Given the description of an element on the screen output the (x, y) to click on. 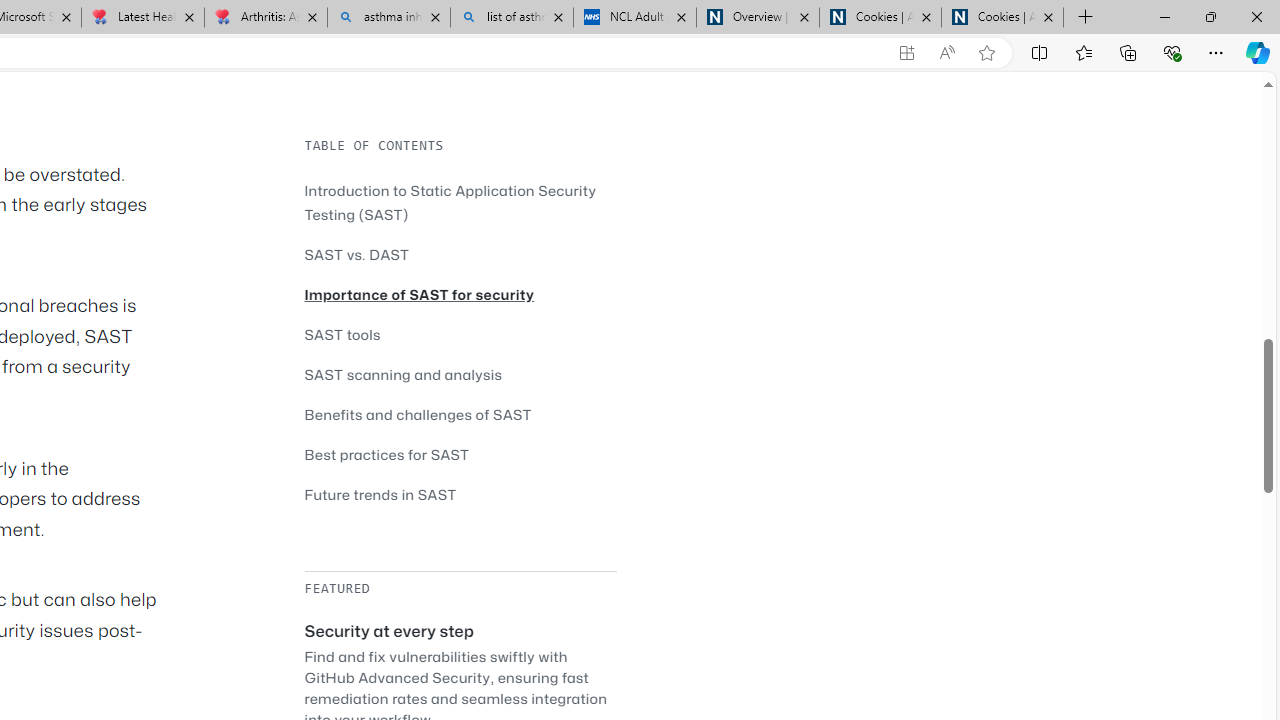
Best practices for SAST (386, 453)
Importance of SAST for security (460, 294)
Cookies | About | NICE (1002, 17)
SAST scanning and analysis (403, 374)
Best practices for SAST (460, 454)
asthma inhaler - Search (388, 17)
Introduction to Static Application Security Testing (SAST) (460, 201)
SAST scanning and analysis (460, 374)
SAST vs. DAST (356, 254)
Future trends in SAST (380, 494)
